Given the description of an element on the screen output the (x, y) to click on. 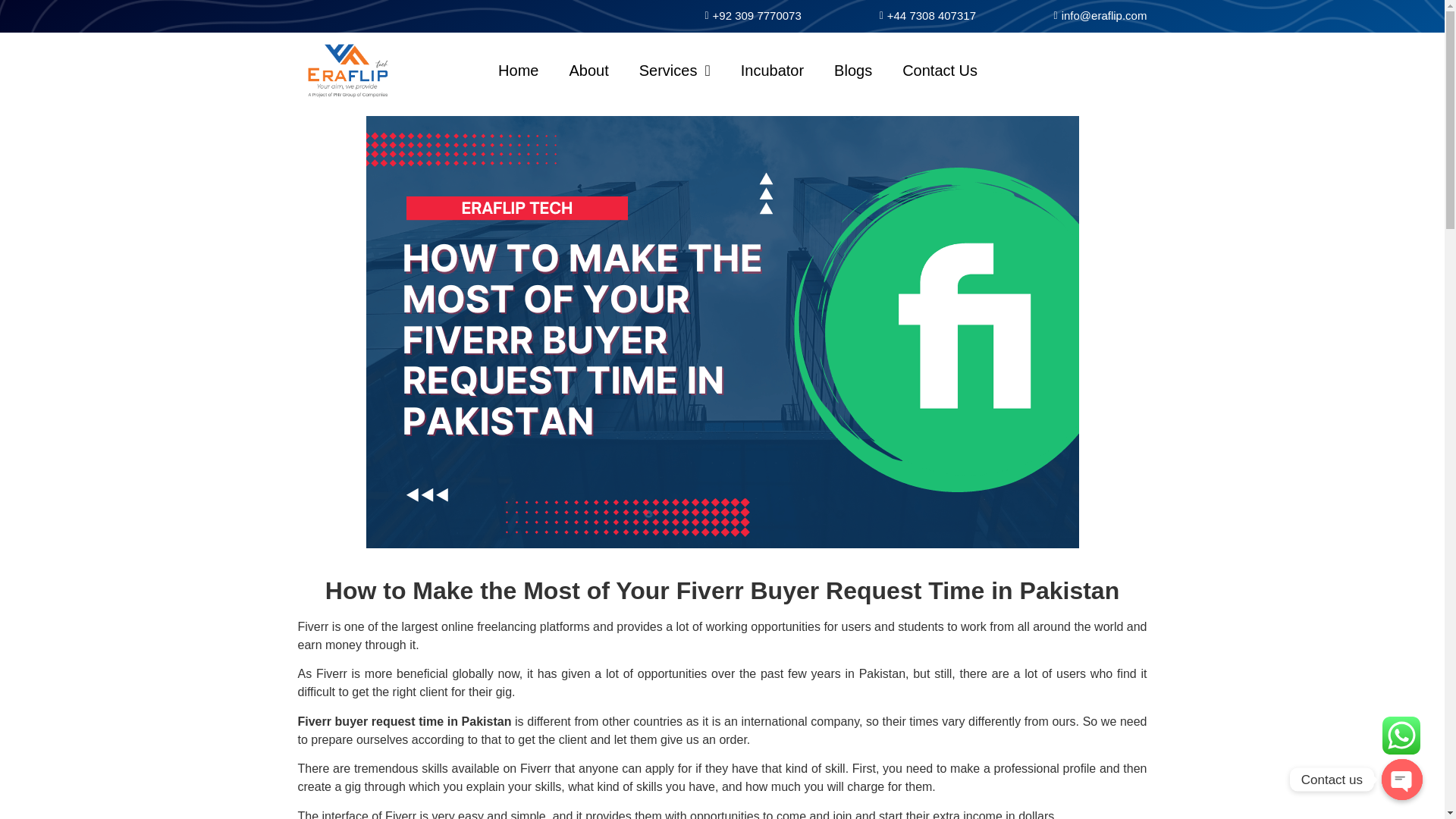
Contact Us (939, 70)
Incubator (771, 70)
About (588, 70)
Services (674, 70)
Blogs (852, 70)
Home (518, 70)
